Given the description of an element on the screen output the (x, y) to click on. 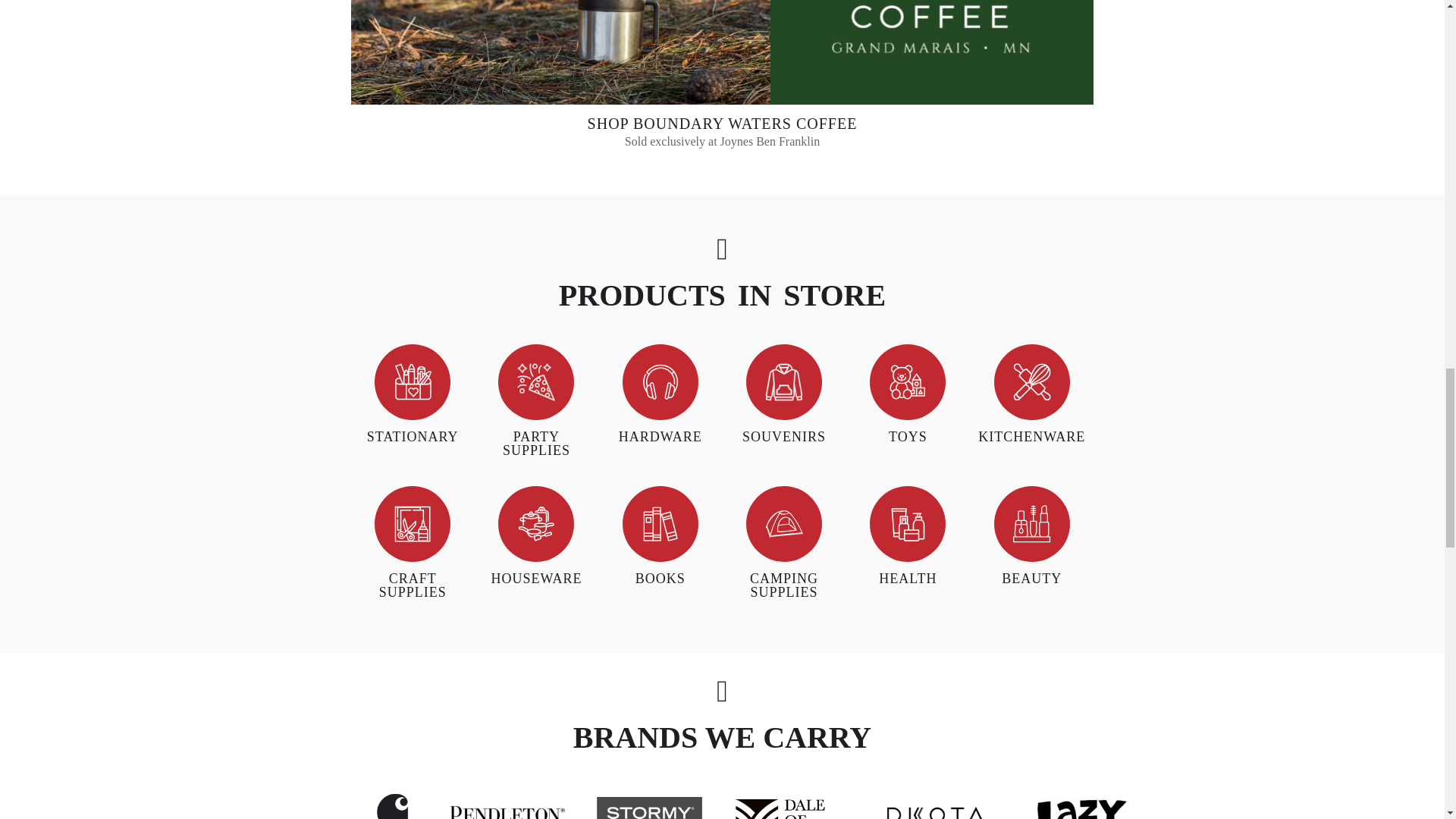
SHOP BOUNDARY WATERS COFFEE (722, 123)
